Given the description of an element on the screen output the (x, y) to click on. 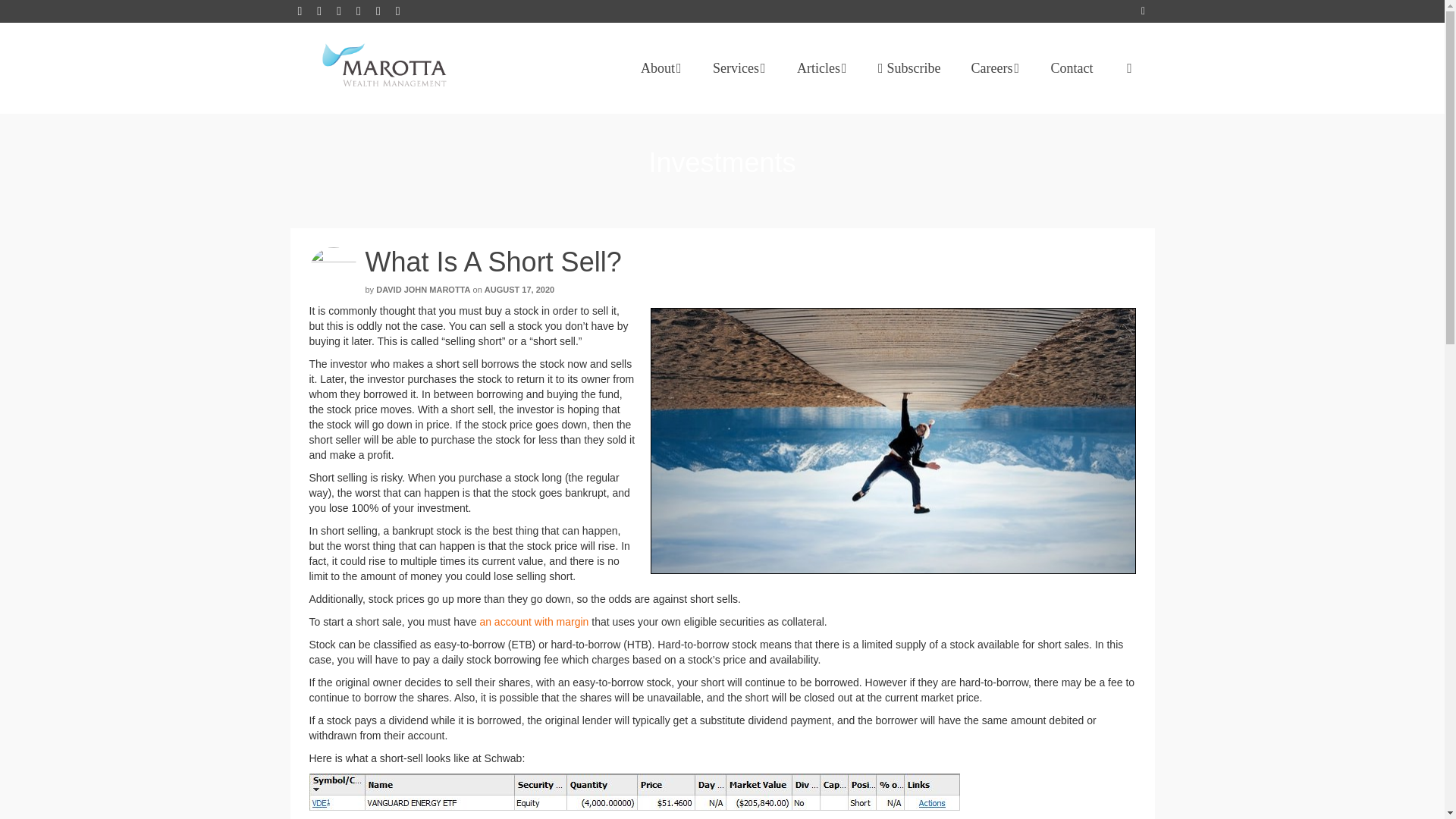
Services (739, 67)
Subscribe (909, 67)
Articles (822, 67)
Posts by David John Marotta (422, 289)
